Given the description of an element on the screen output the (x, y) to click on. 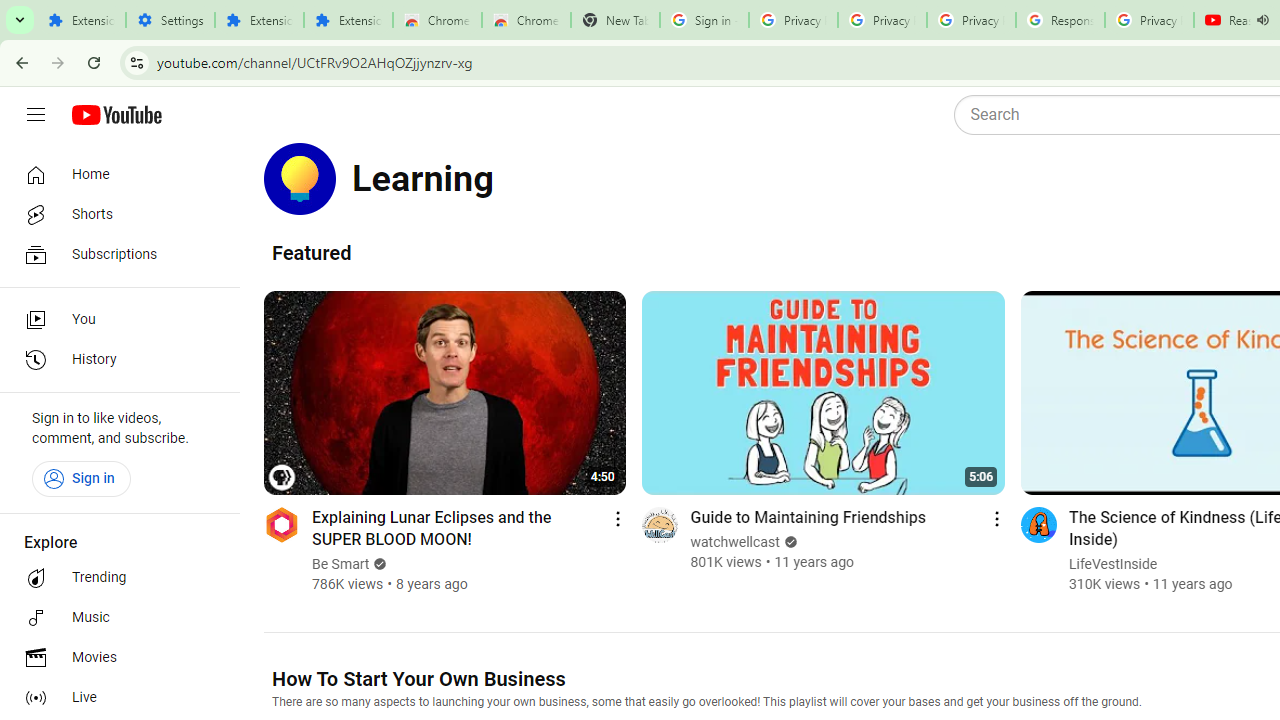
Extensions (81, 20)
Subscriptions (113, 254)
Extensions (259, 20)
History (113, 359)
Action menu (996, 518)
Chrome Web Store (437, 20)
New Tab (615, 20)
Go to channel (1038, 524)
Shorts (113, 214)
